Given the description of an element on the screen output the (x, y) to click on. 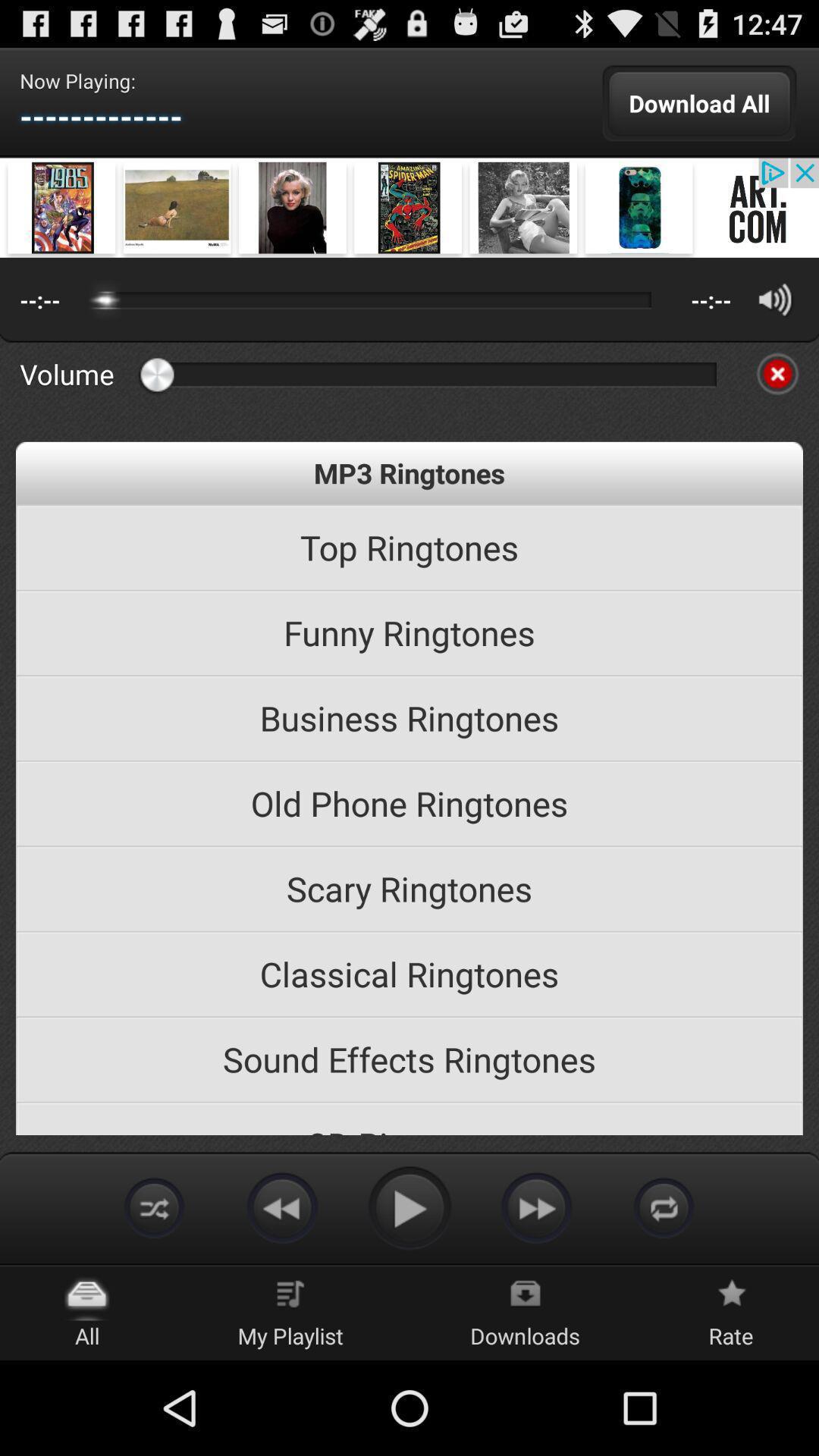
volume (775, 299)
